Given the description of an element on the screen output the (x, y) to click on. 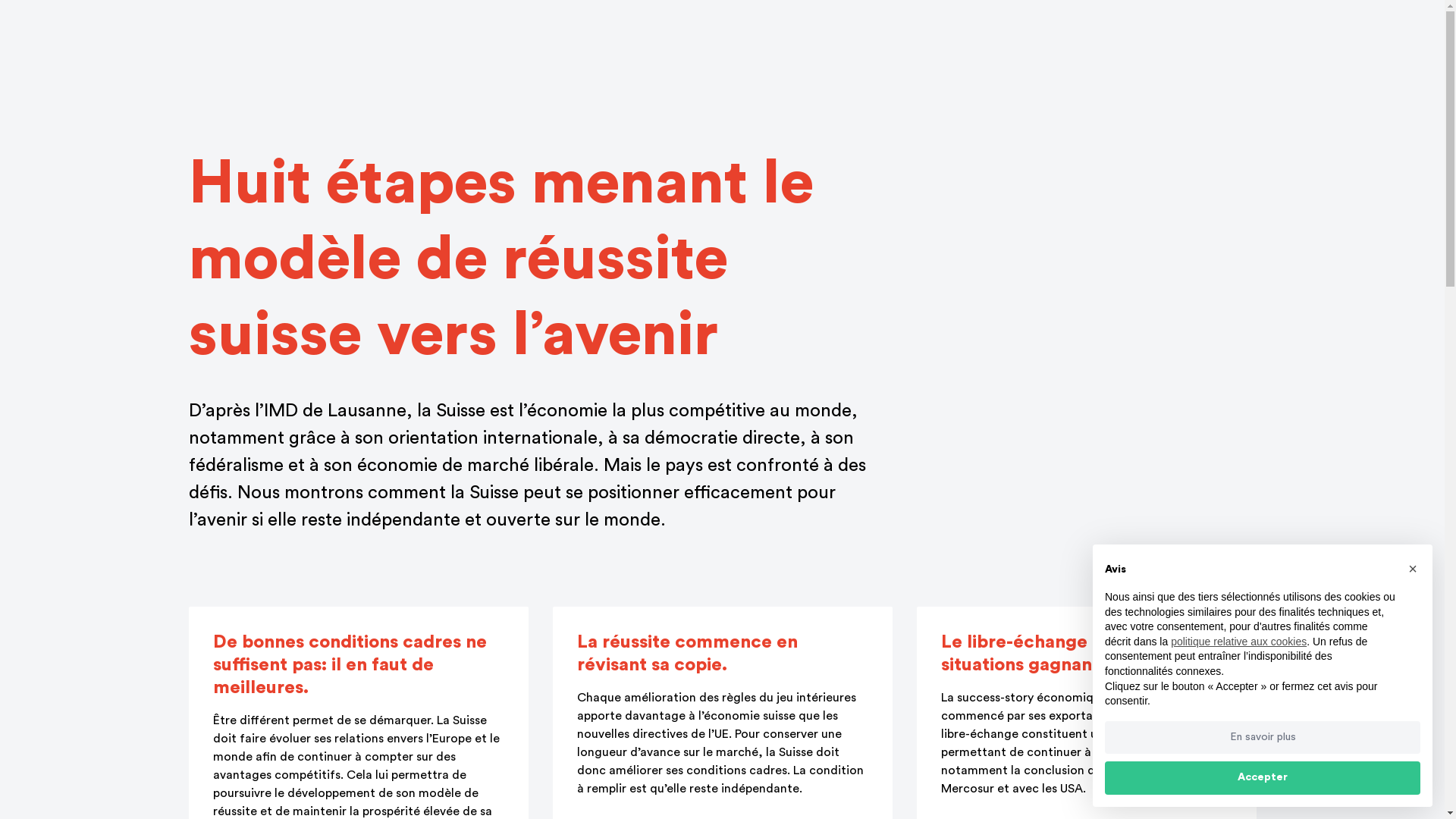
En savoir plus Element type: text (1262, 737)
politique relative aux cookies Element type: text (1238, 641)
Accepter Element type: text (1262, 777)
